Given the description of an element on the screen output the (x, y) to click on. 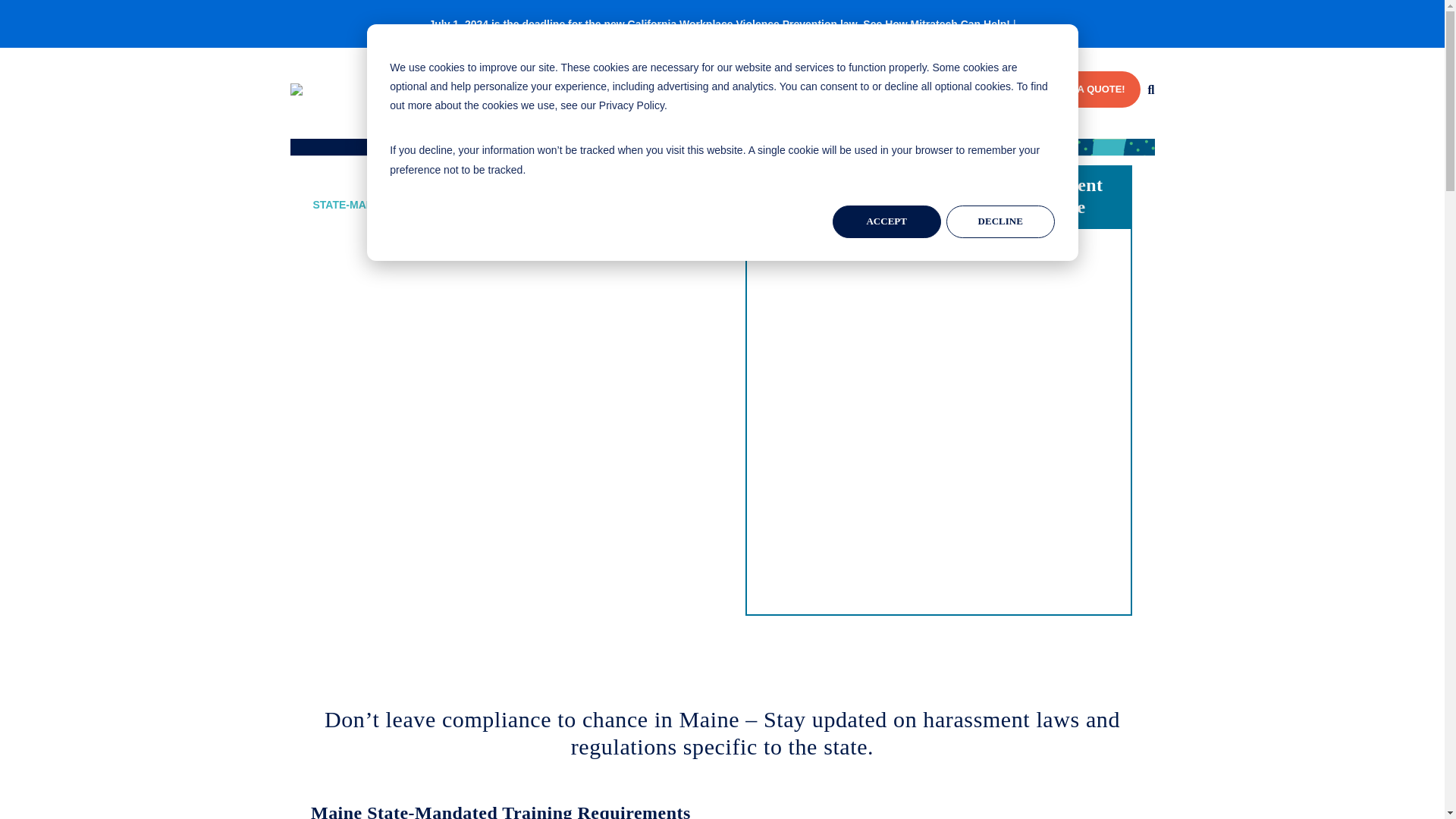
TRAINING (657, 89)
HOTLINES (589, 89)
See How Mitratech Can Help! (936, 24)
